Given the description of an element on the screen output the (x, y) to click on. 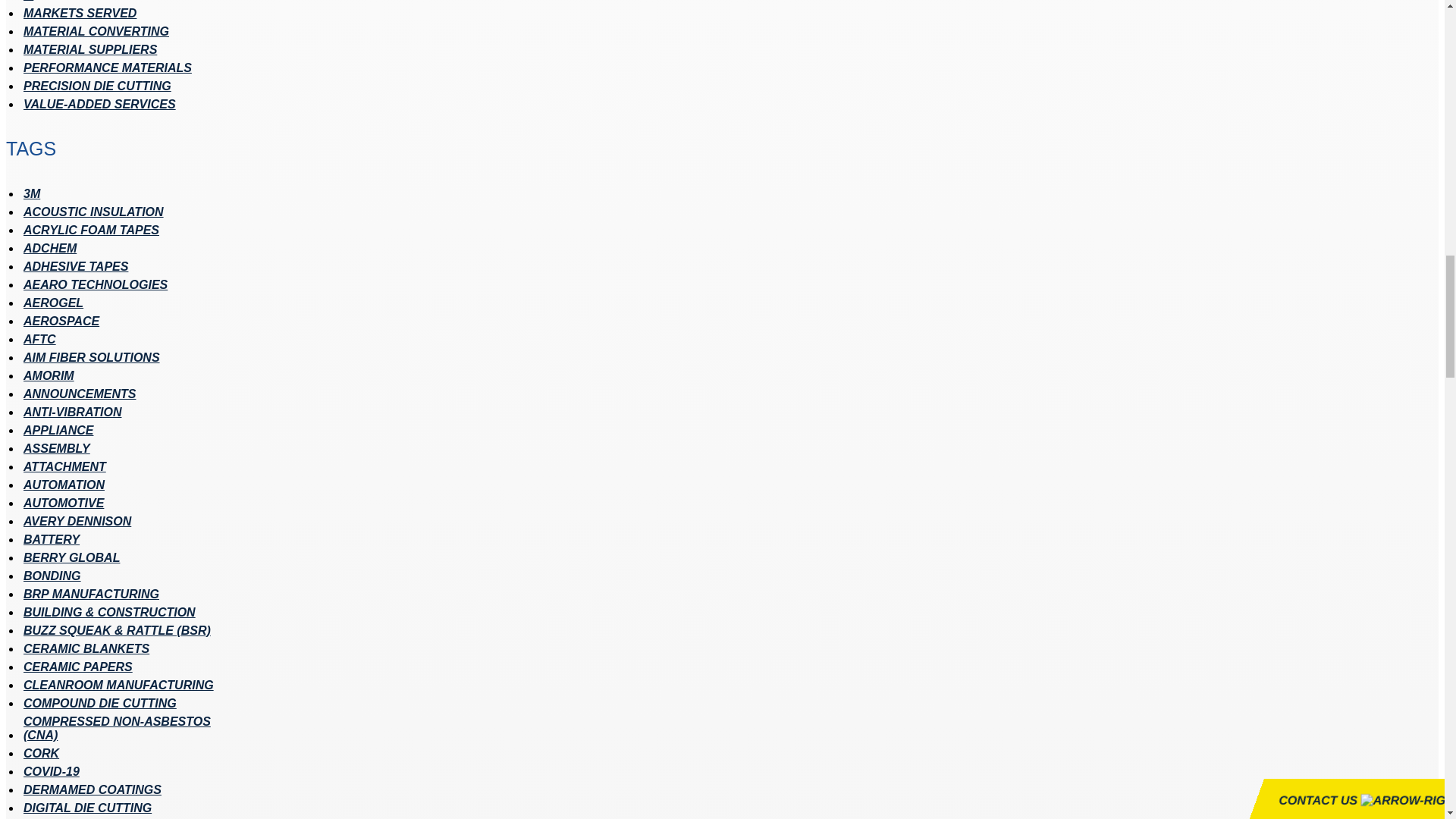
Category: Value-Added Services (99, 104)
Tag: Aearo Technologies (95, 284)
Tag: AdChem (50, 248)
Tag: 3M (31, 193)
Tag: Acoustic Insulation (93, 212)
Category: Material Converting (95, 31)
Category: Material Suppliers (90, 49)
Tag: Aerospace (61, 321)
Tag: AFTC (39, 339)
